Given the description of an element on the screen output the (x, y) to click on. 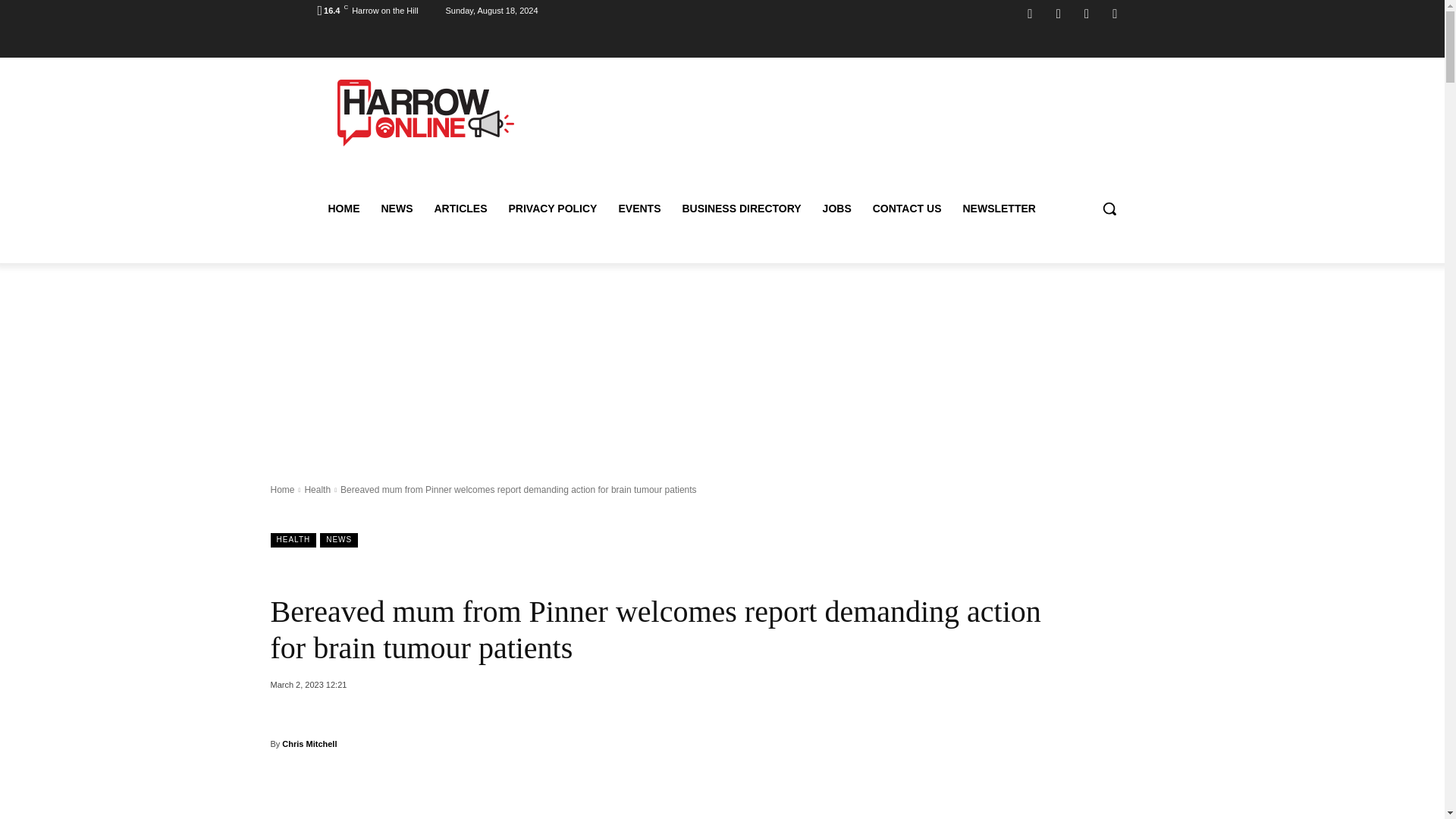
JOBS (836, 208)
HOME (343, 208)
TikTok (1086, 13)
BUSINESS DIRECTORY (740, 208)
NEWSLETTER (998, 208)
CONTACT US (906, 208)
NEWS (396, 208)
PRIVACY POLICY (552, 208)
Instagram (1058, 13)
ARTICLES (460, 208)
